Given the description of an element on the screen output the (x, y) to click on. 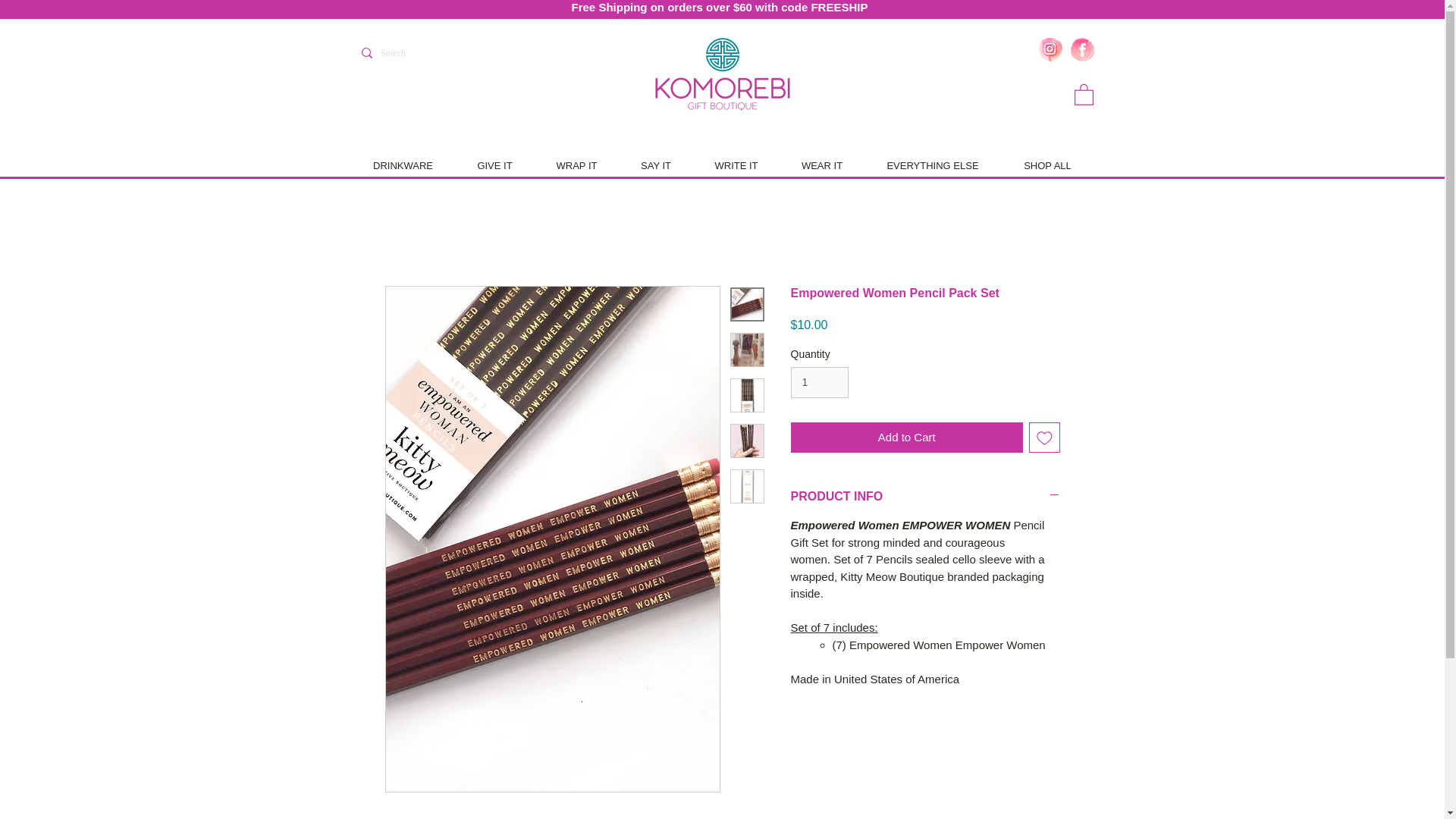
WRAP IT (576, 165)
WEAR IT (820, 165)
SAY IT (655, 165)
Add to Cart (906, 437)
SHOP ALL (1047, 165)
1 (818, 382)
Komorebi Gift Boutique-unique gifts for her (722, 75)
PRODUCT INFO (924, 496)
